Given the description of an element on the screen output the (x, y) to click on. 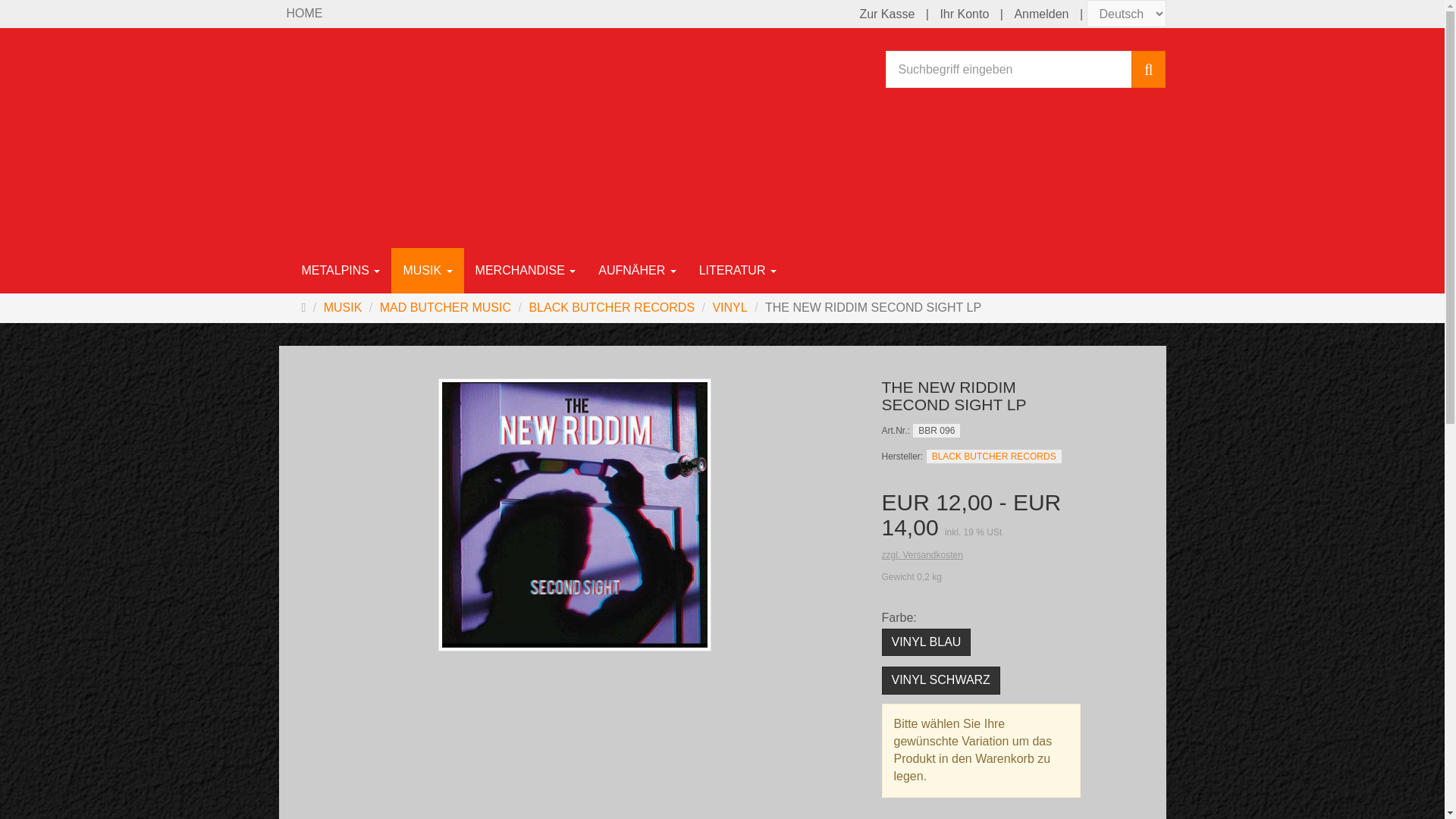
THE NEW RIDDIM SECOND SIGHT LP (866, 307)
Suchen (1148, 68)
Ihr Konto (963, 13)
MUSIK (427, 270)
Suchen (1148, 68)
HOME (304, 13)
Anmelden (1040, 13)
METALPINS (340, 270)
MERCHANDISE (526, 270)
MAD BUTCHER RECORDS Shop (304, 13)
